Given the description of an element on the screen output the (x, y) to click on. 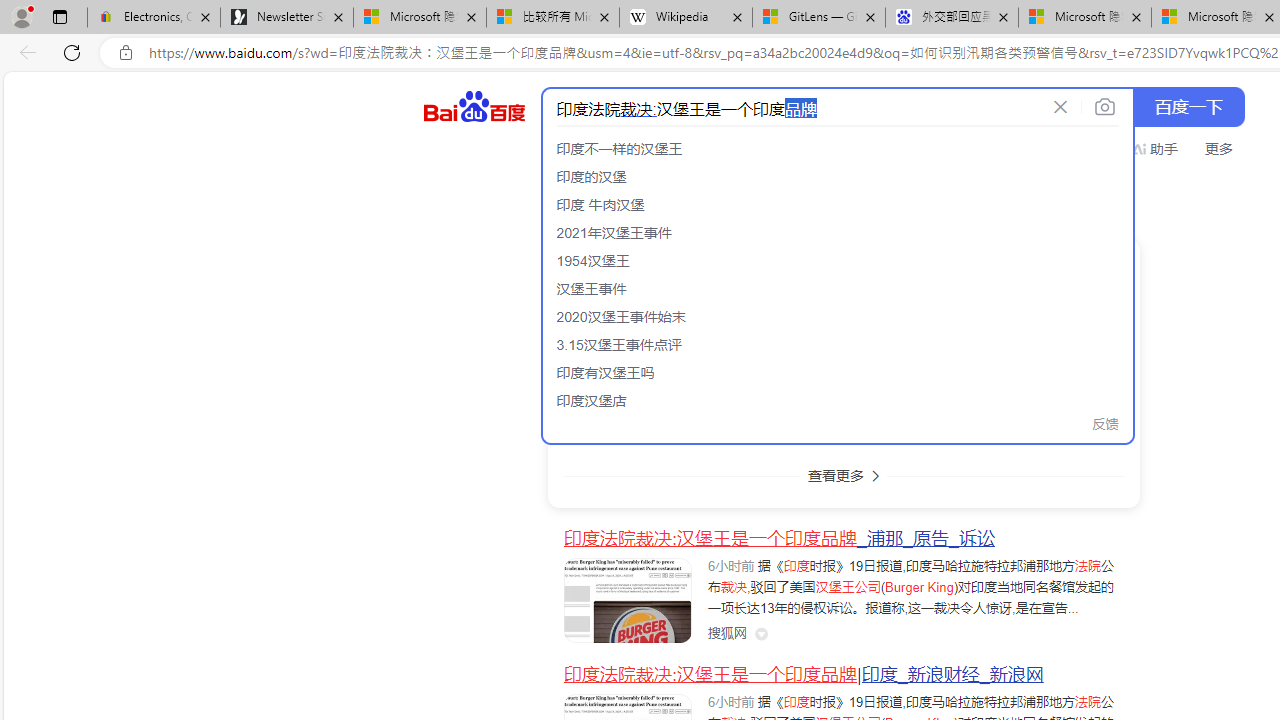
Newsletter Sign Up (287, 17)
AutomationID: kw (793, 107)
